Given the description of an element on the screen output the (x, y) to click on. 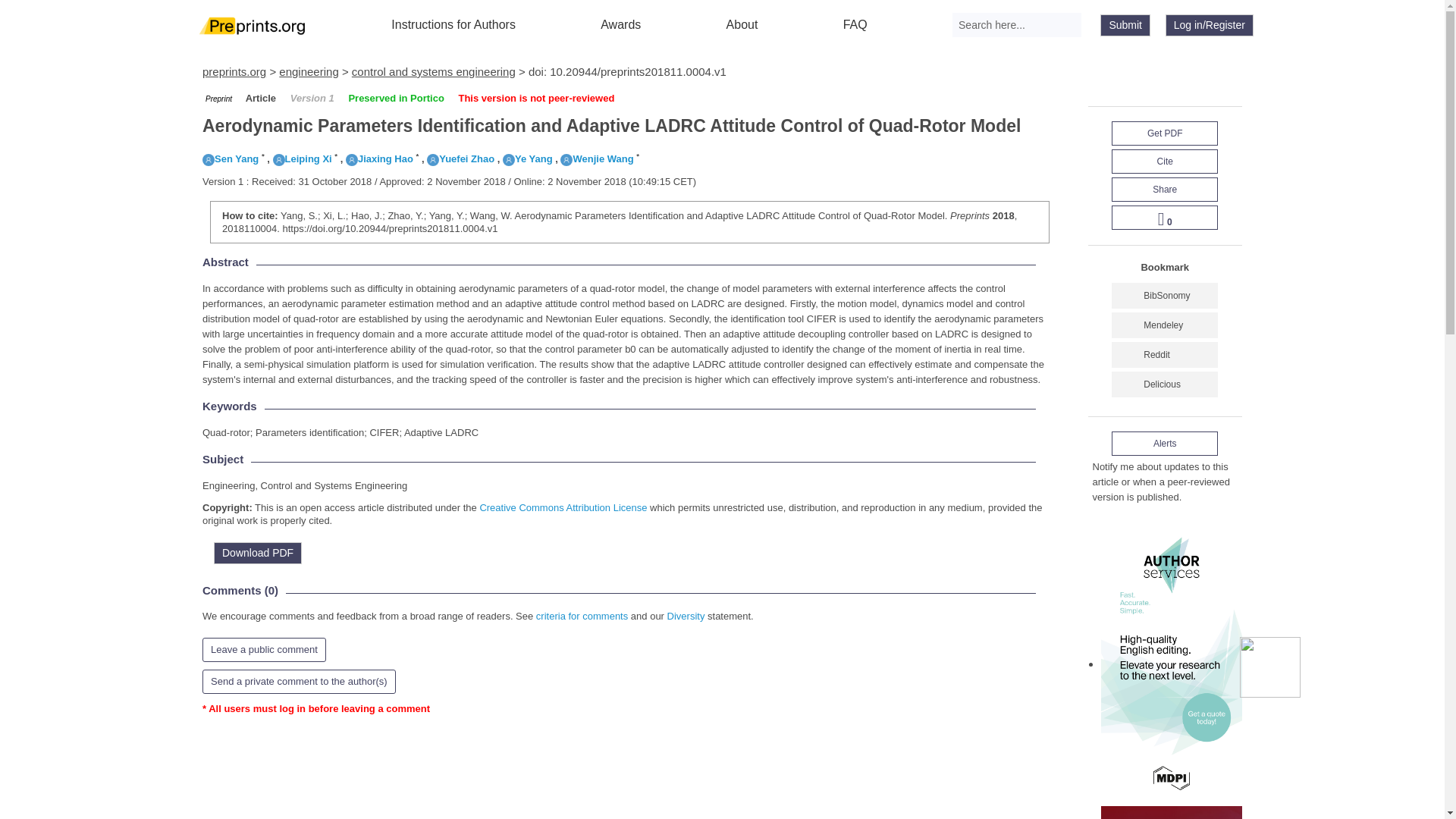
Wenjie Wang (596, 158)
Submit (1125, 25)
preprints.org (234, 71)
control and systems engineering (433, 71)
Ye Yang (527, 158)
Sen Yang (230, 158)
Leiping Xi (302, 158)
Jiaxing Hao (379, 158)
Instructions for Authors (453, 24)
engineering (308, 71)
